Given the description of an element on the screen output the (x, y) to click on. 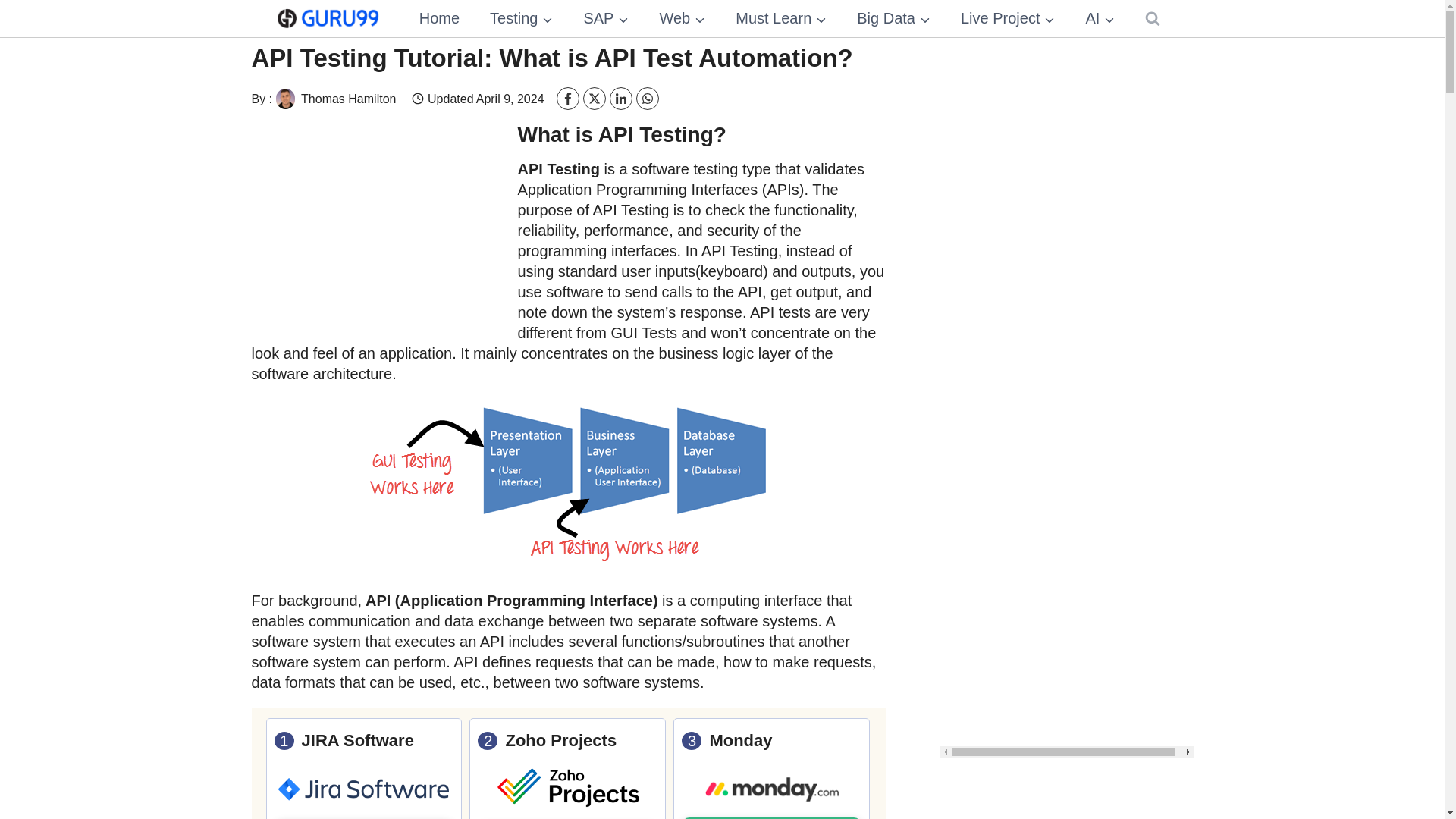
Home (439, 18)
Testing (520, 18)
Posts by Thomas Hamilton (334, 97)
SAP (605, 18)
